Given the description of an element on the screen output the (x, y) to click on. 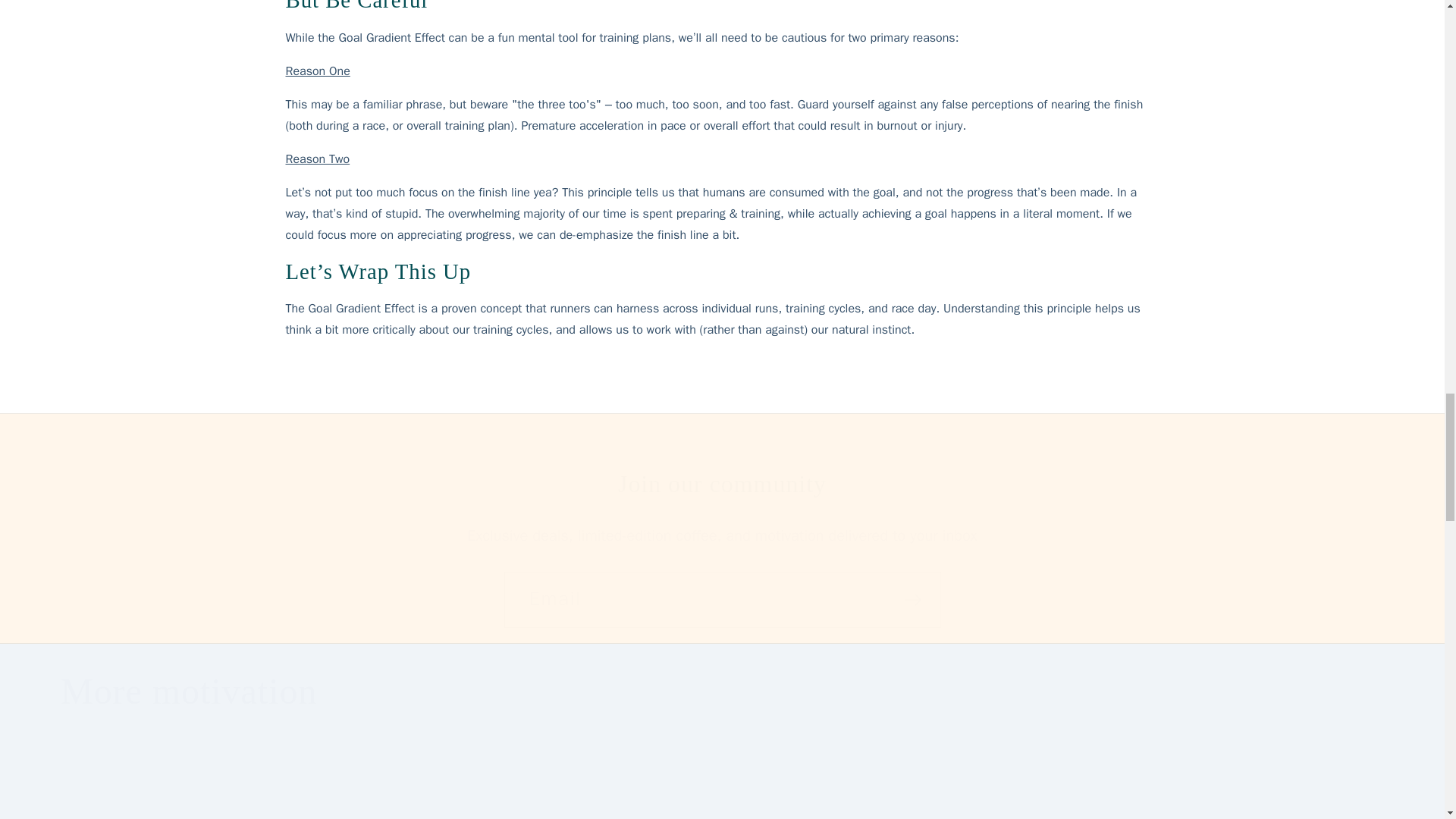
Email (721, 599)
More motivation (189, 691)
Join our community (722, 484)
